Given the description of an element on the screen output the (x, y) to click on. 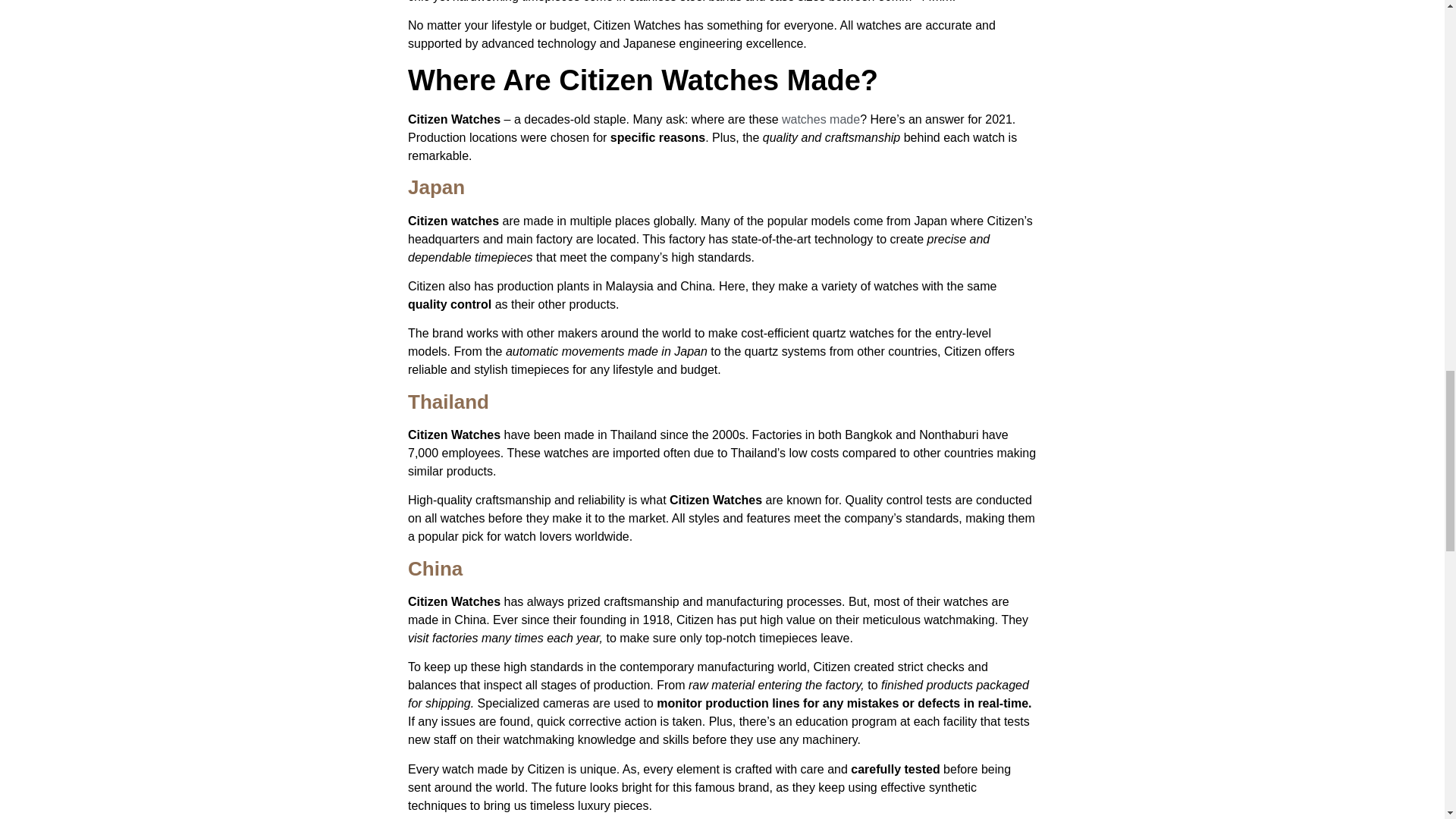
watches made (820, 119)
